Given the description of an element on the screen output the (x, y) to click on. 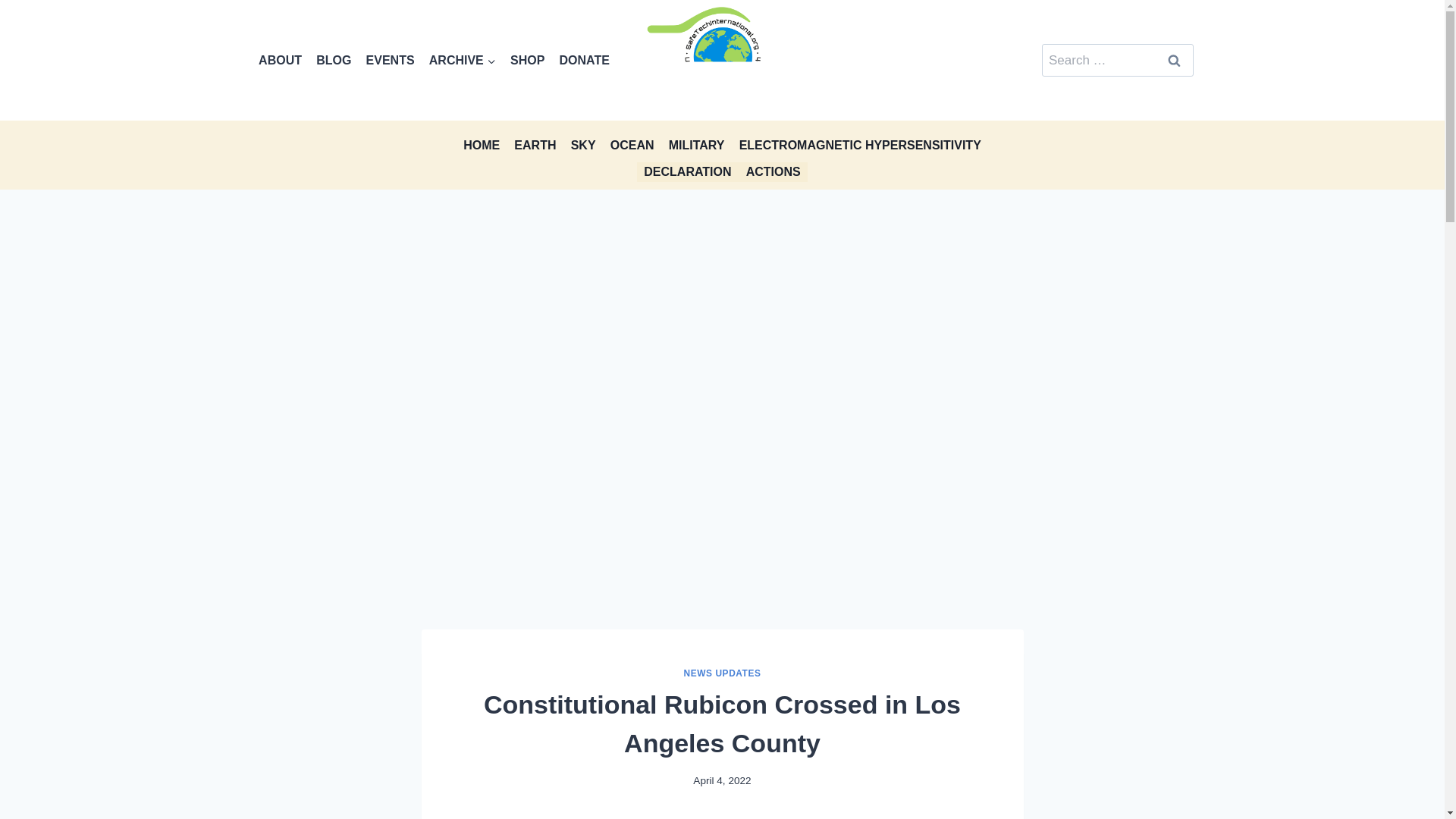
Search (1174, 60)
DONATE (584, 60)
BLOG (333, 60)
OCEAN (631, 144)
EVENTS (390, 60)
HOME (481, 144)
ABOUT (279, 60)
Search (1174, 60)
ARCHIVE (462, 60)
